Given the description of an element on the screen output the (x, y) to click on. 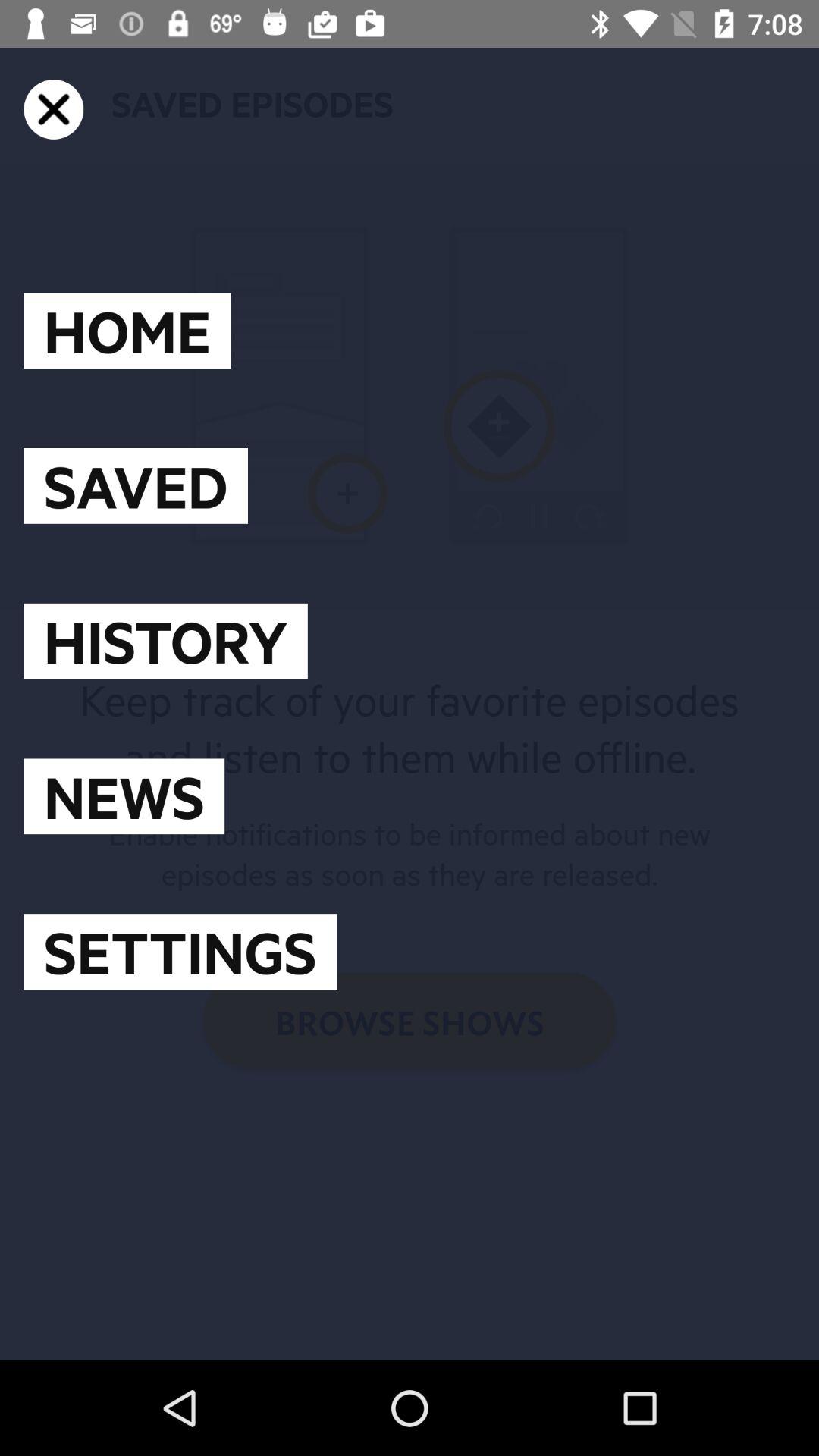
flip to the settings icon (179, 951)
